Given the description of an element on the screen output the (x, y) to click on. 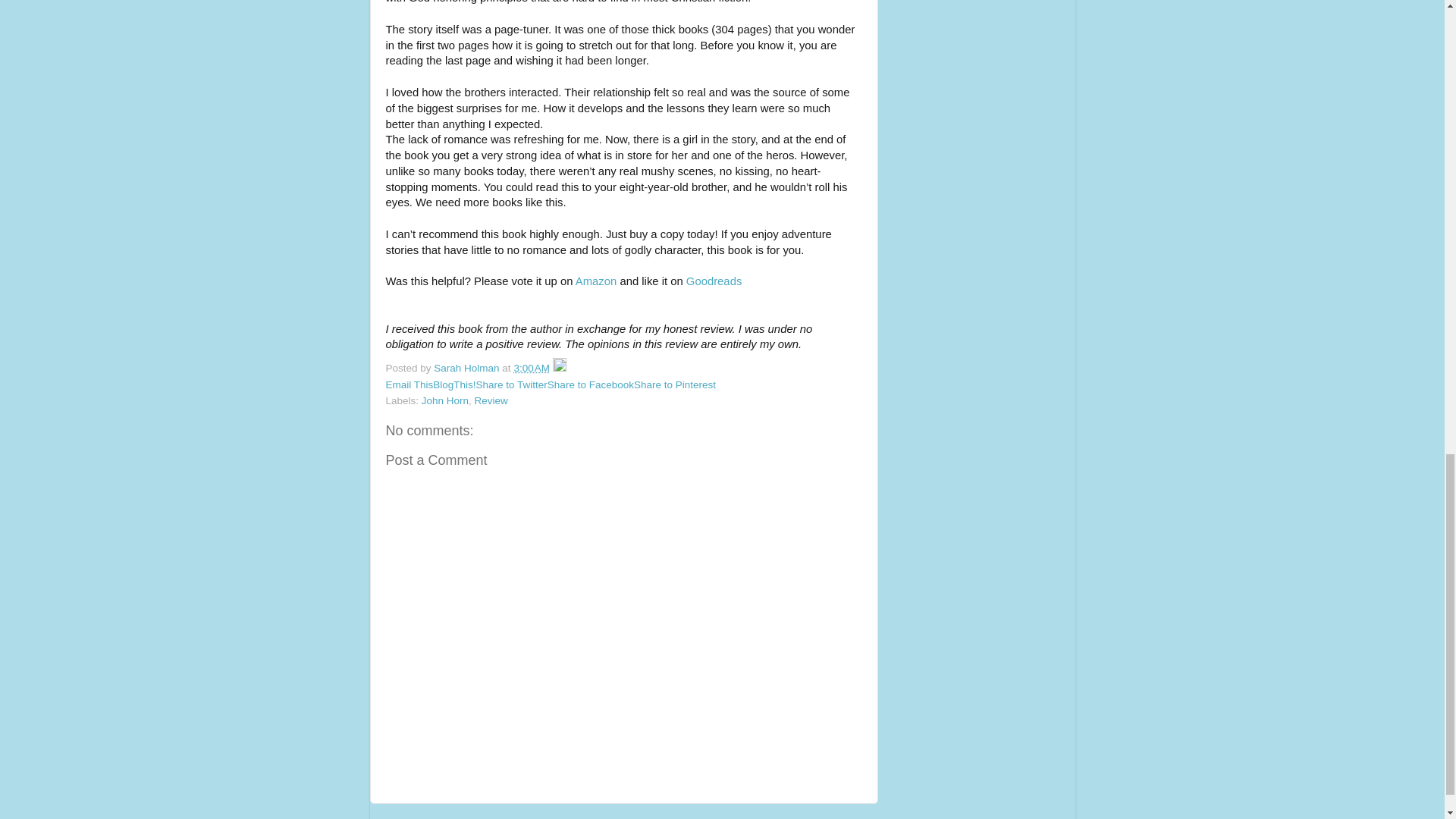
Share to Pinterest (674, 384)
Share to Pinterest (674, 384)
BlogThis! (454, 384)
Goodreads (713, 281)
Edit Post (559, 367)
Sarah Holman (467, 367)
Share to Facebook (590, 384)
Review (491, 400)
author profile (467, 367)
Amazon (595, 281)
